Given the description of an element on the screen output the (x, y) to click on. 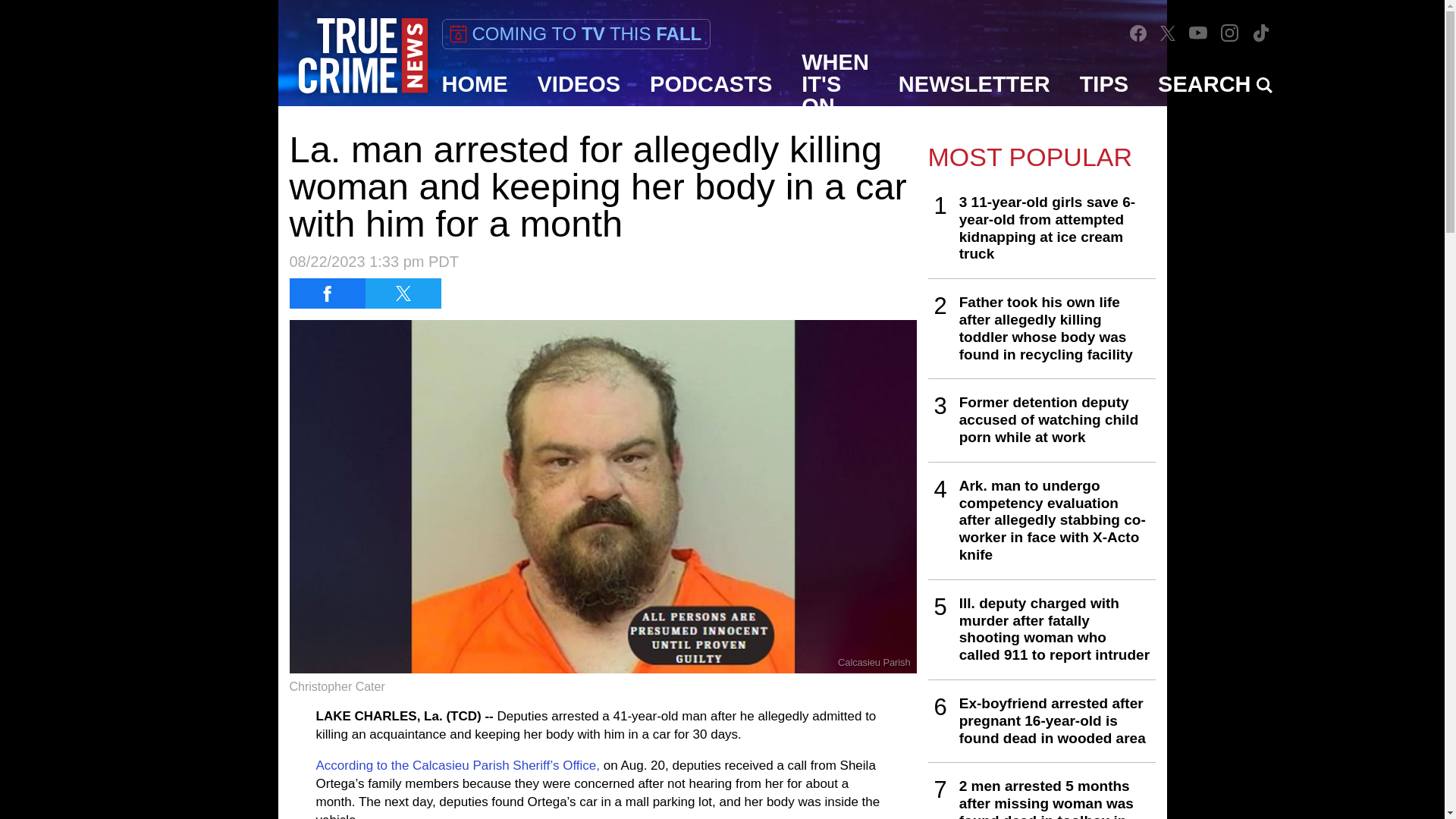
VIDEOS (579, 84)
Twitter (1167, 32)
True Crime News (363, 56)
TIPS (1103, 84)
HOME (475, 84)
WHEN IT'S ON (835, 84)
YouTube (1198, 32)
SEARCH (1214, 84)
NEWSLETTER (974, 84)
Facebook (1137, 33)
COMING TO TV THIS FALL (575, 33)
YouTube (1198, 32)
Instagram (1229, 32)
TikTok (1260, 32)
True Crime News (363, 56)
